Given the description of an element on the screen output the (x, y) to click on. 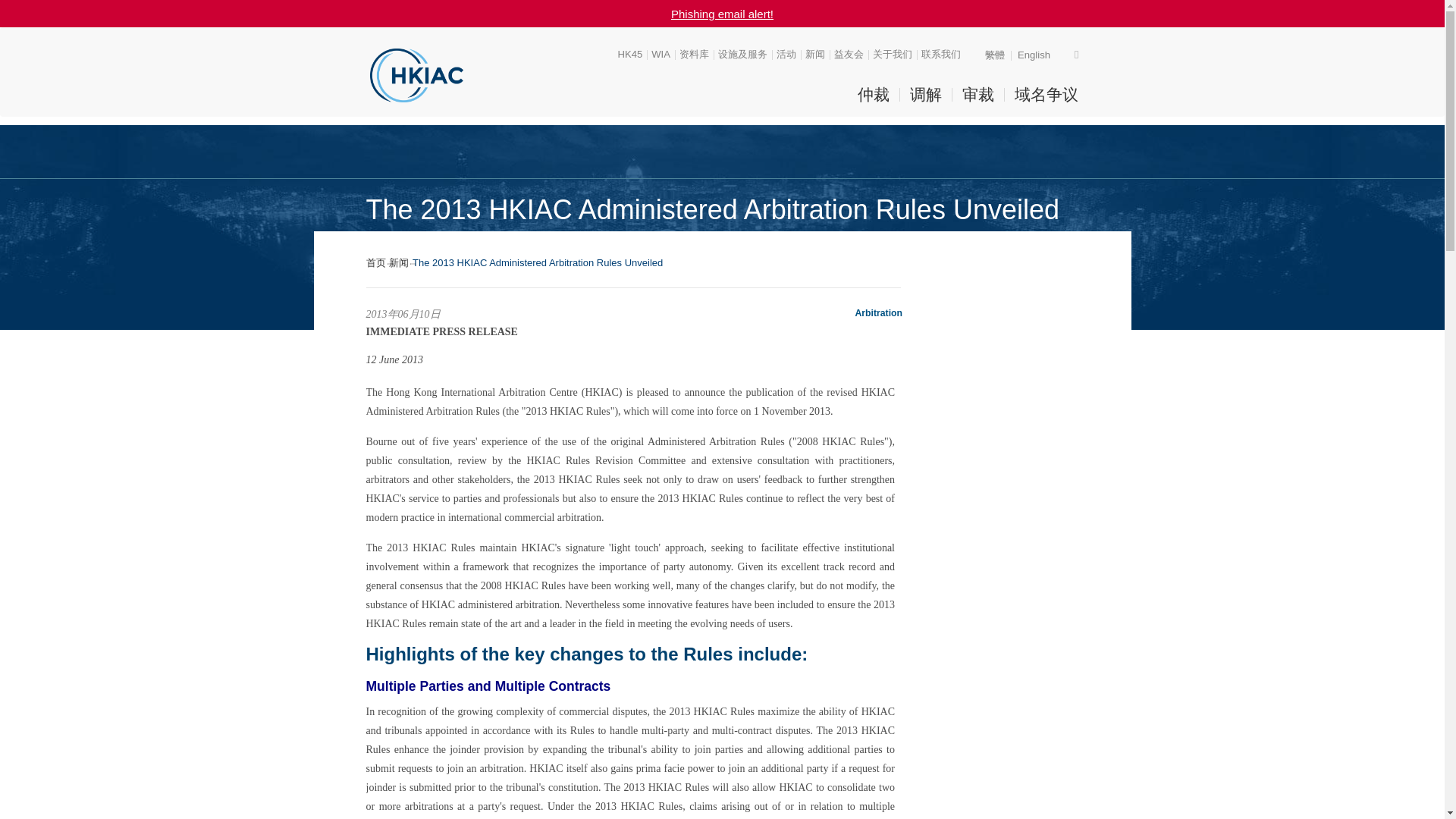
Phishing email alert! (722, 13)
HKIAC (415, 75)
